Given the description of an element on the screen output the (x, y) to click on. 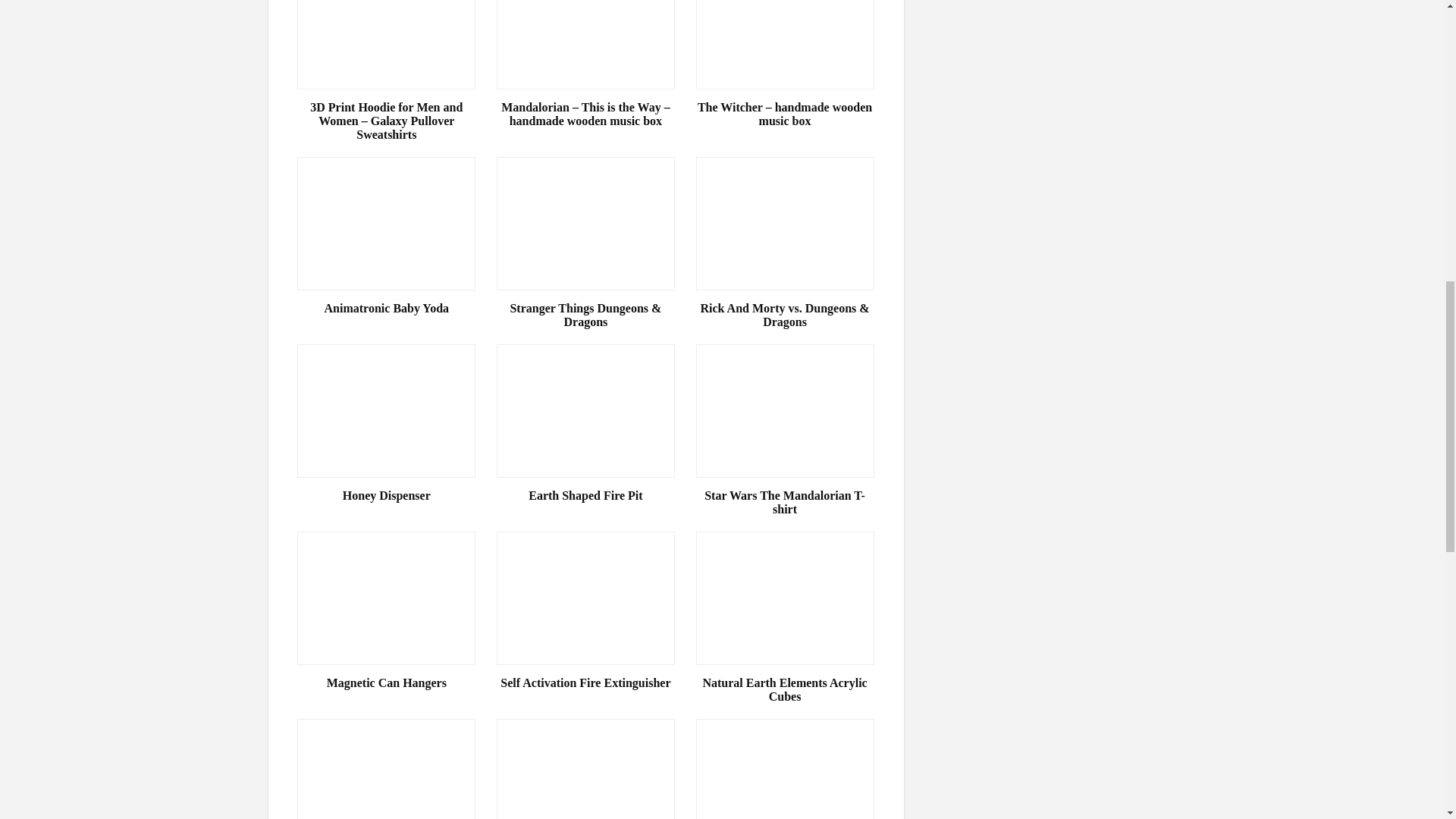
Animatronic Baby Yoda (386, 308)
Star Wars The Mandalorian T-shirt (785, 502)
Magnetic Can Hangers (386, 683)
Honey Dispenser (386, 495)
Earth Shaped Fire Pit (585, 495)
